Given the description of an element on the screen output the (x, y) to click on. 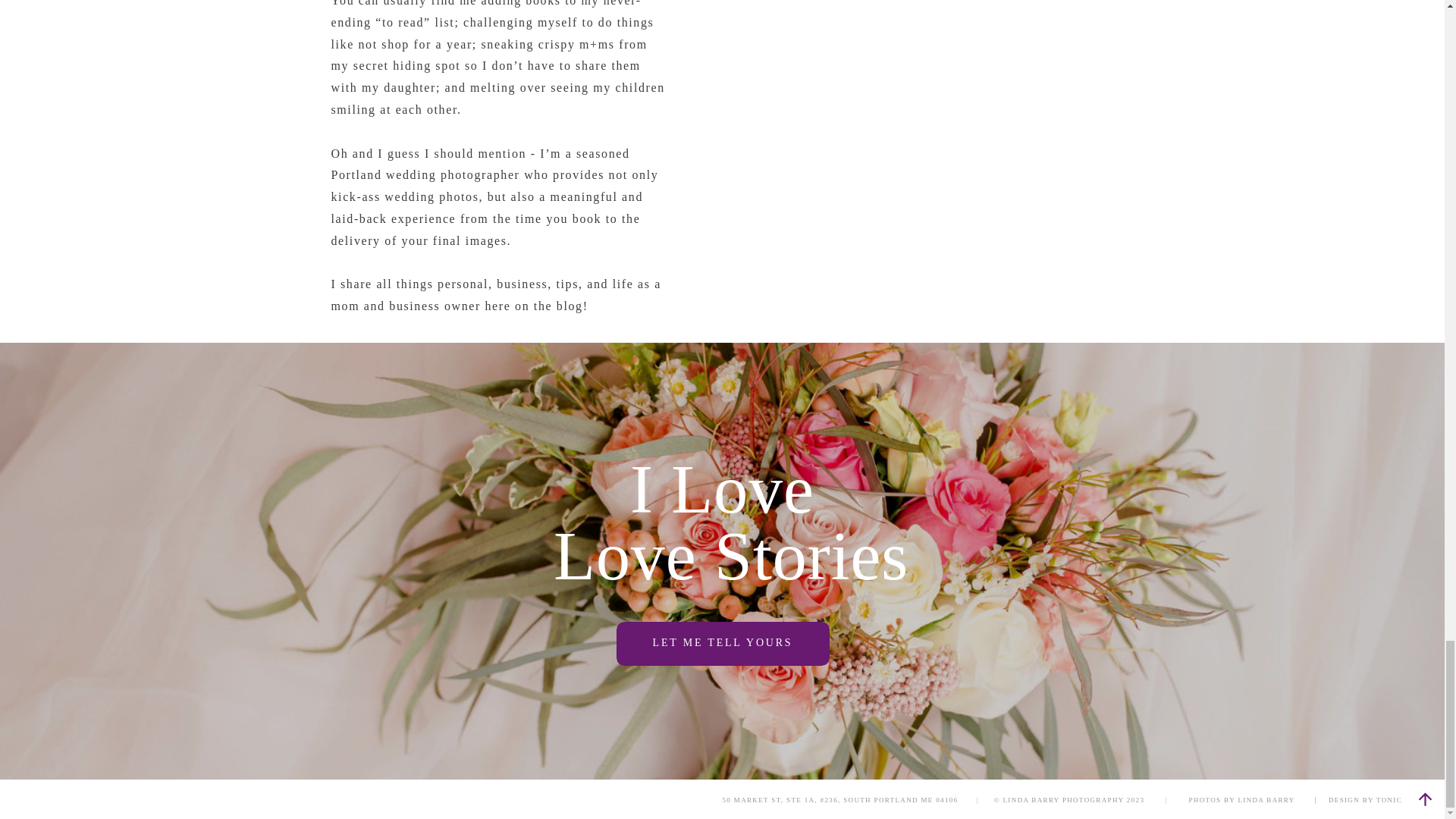
LET ME TELL YOURS (721, 643)
PHOTOS BY LINDA BARRY (1241, 799)
DESIGN BY TONIC (1364, 799)
